Given the description of an element on the screen output the (x, y) to click on. 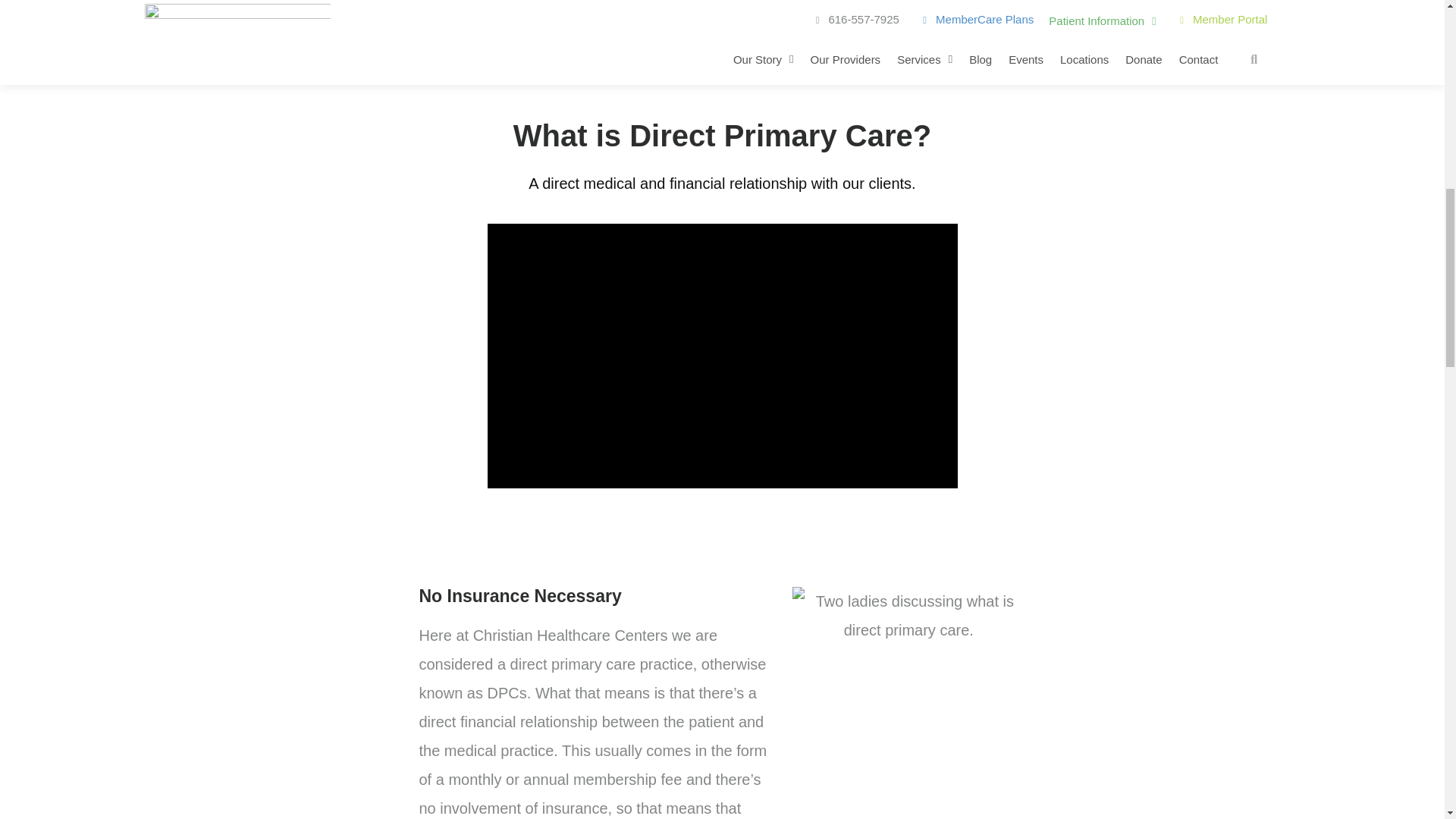
vimeo Video Player (721, 355)
